Given the description of an element on the screen output the (x, y) to click on. 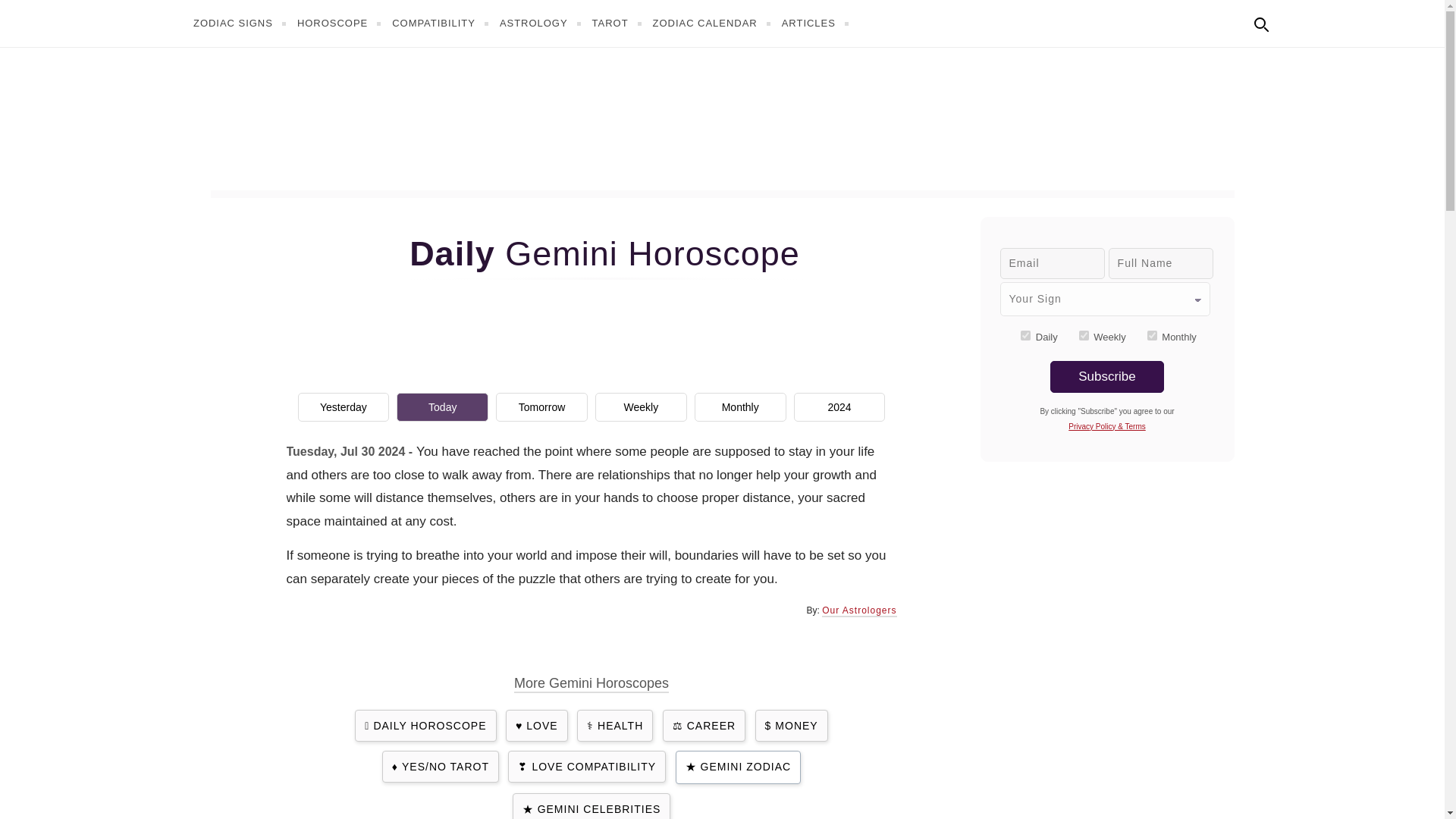
monthly (1152, 335)
ZODIAC SIGNS (241, 23)
weekly (1083, 335)
HOROSCOPE (341, 23)
In English (1294, 21)
daily (1025, 335)
